Given the description of an element on the screen output the (x, y) to click on. 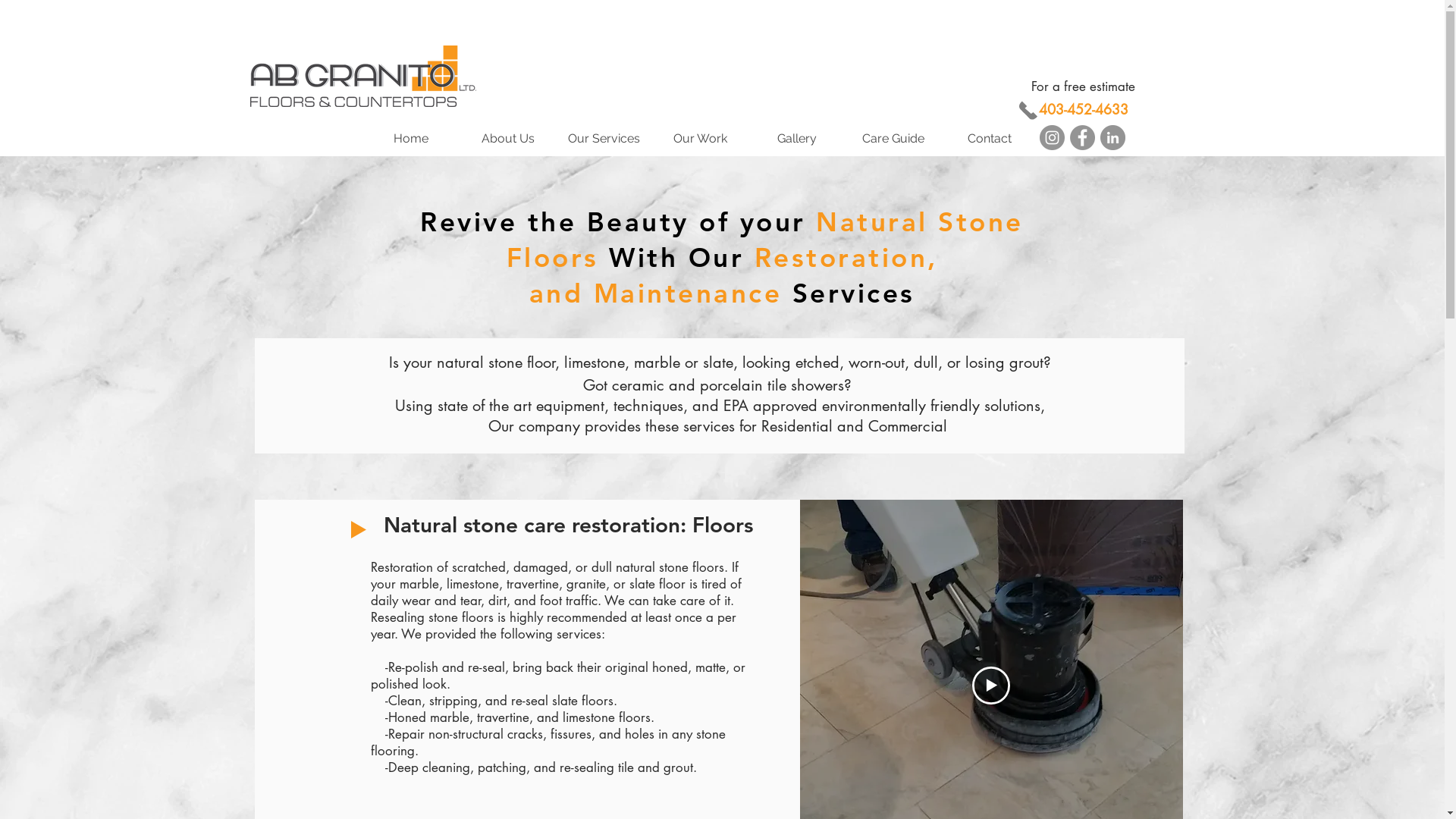
403-452-4633 Element type: text (1083, 109)
Our Work Element type: text (700, 138)
About Us Element type: text (507, 138)
Gallery Element type: text (795, 138)
Contact Element type: text (988, 138)
Care Guide Element type: text (892, 138)
Home Element type: text (410, 138)
